Given the description of an element on the screen output the (x, y) to click on. 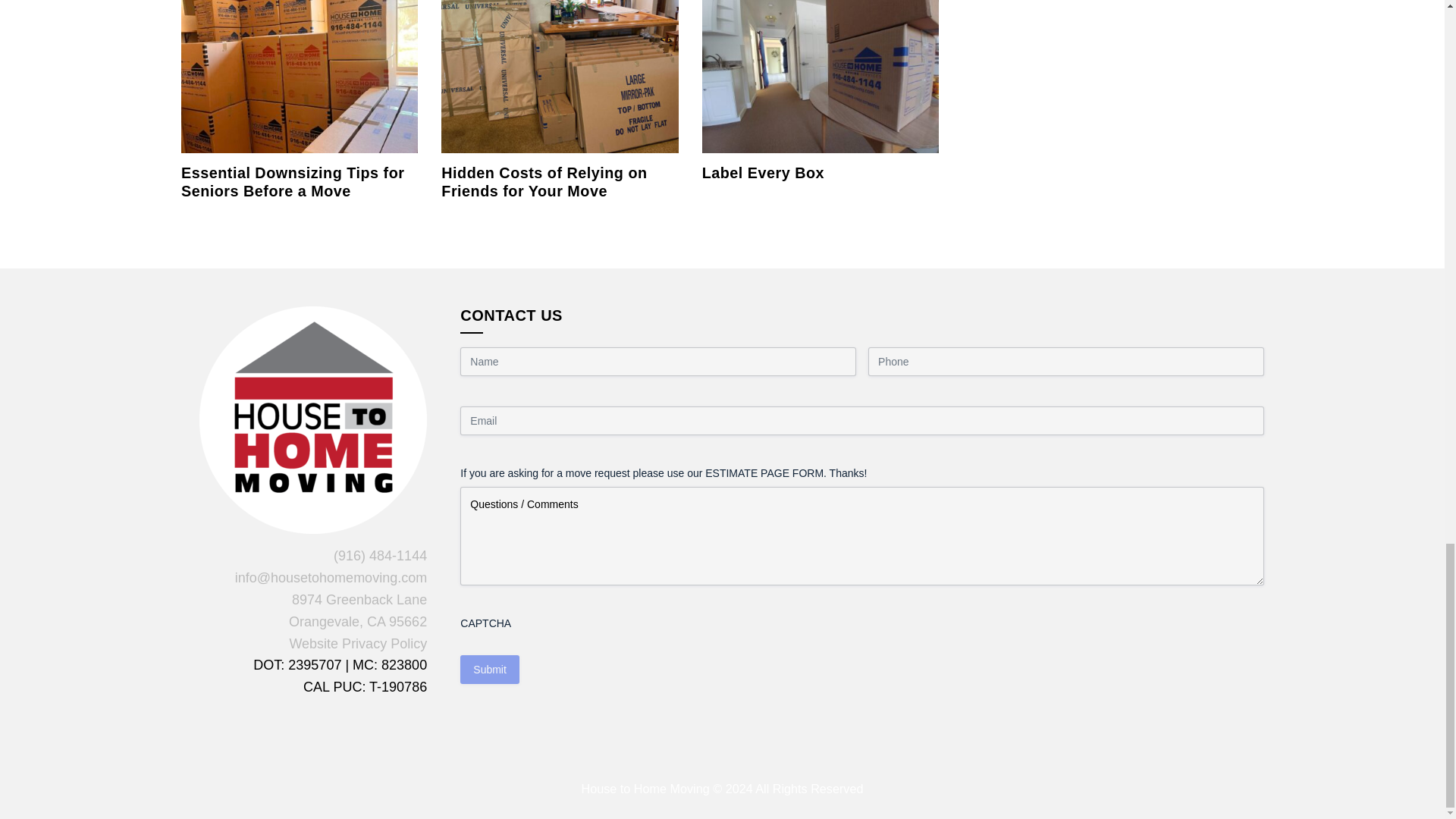
Label Every Box (762, 172)
Essential Downsizing Tips for Seniors Before a Move (298, 68)
Label Every Box (820, 68)
Essential Downsizing Tips for Seniors Before a Move (292, 181)
Submit (489, 669)
Hidden Costs of Relying on Friends for Your Move (543, 181)
Hidden Costs of Relying on Friends for Your Move (559, 68)
